Given the description of an element on the screen output the (x, y) to click on. 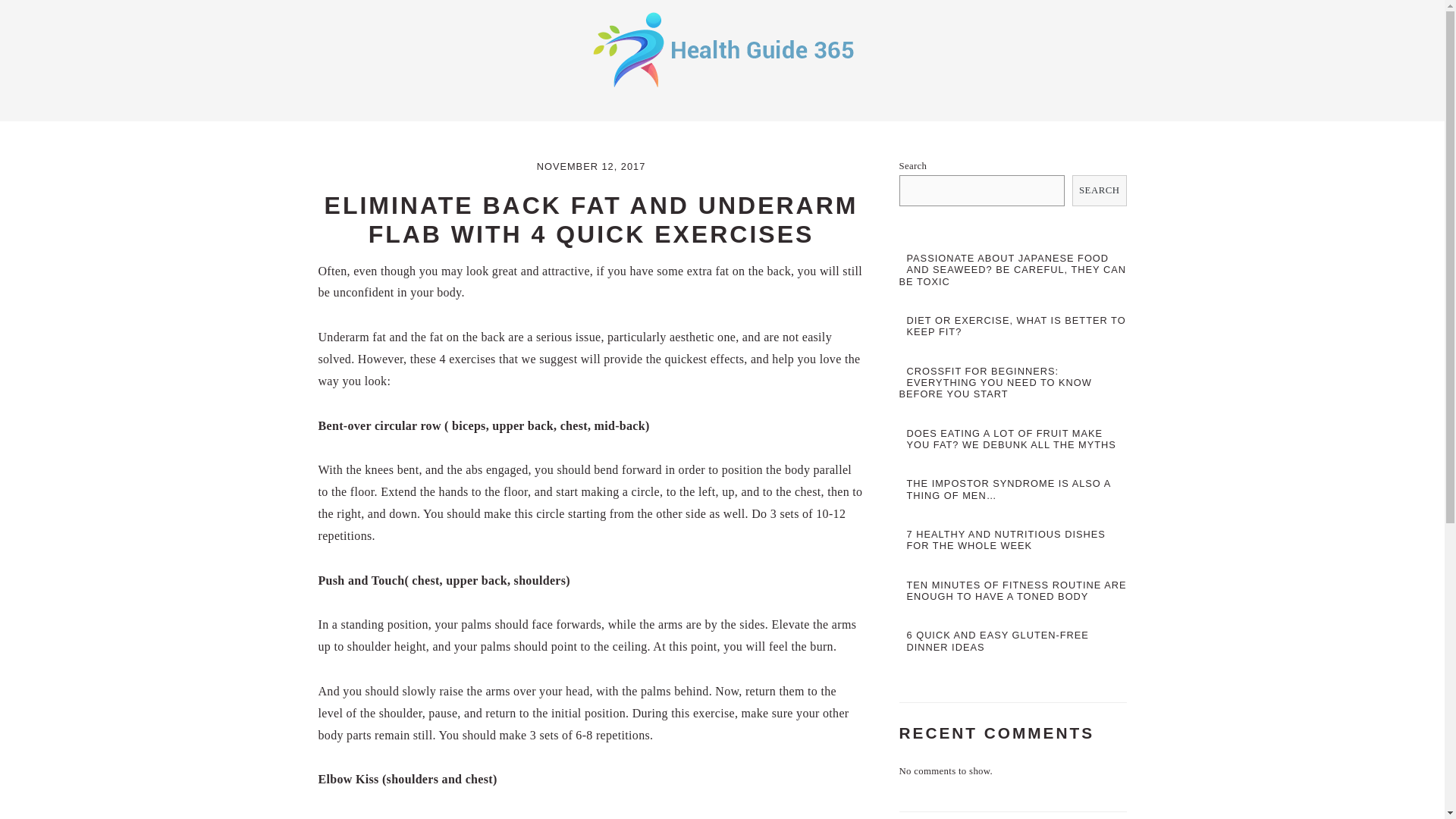
6 QUICK AND EASY GLUTEN-FREE DINNER IDEAS (998, 640)
Health Guide 365 (722, 89)
7 HEALTHY AND NUTRITIOUS DISHES FOR THE WHOLE WEEK (1006, 539)
Health Guide 365 (722, 48)
SEARCH (1098, 190)
DIET OR EXERCISE, WHAT IS BETTER TO KEEP FIT? (1016, 325)
